Given the description of an element on the screen output the (x, y) to click on. 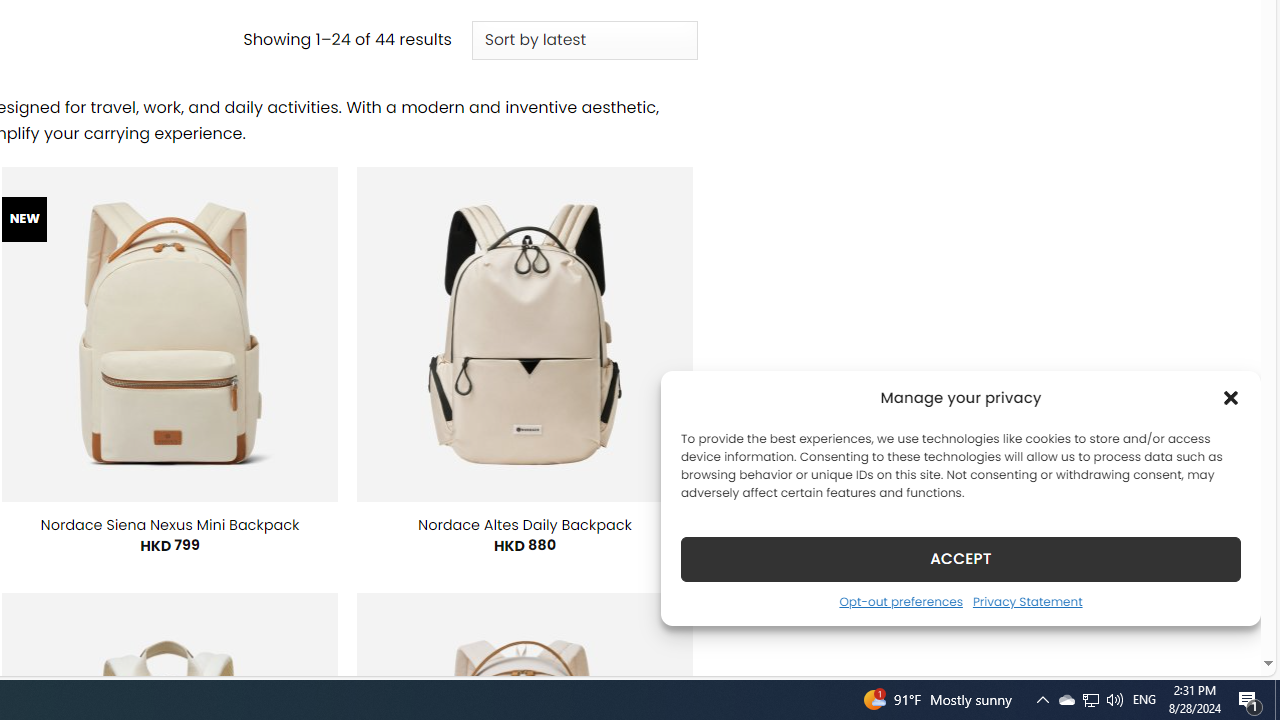
Class: cmplz-close (1231, 397)
Shop order (584, 40)
ACCEPT (960, 558)
Nordace Altes Daily Backpack (525, 524)
Opt-out preferences (900, 601)
Privacy Statement (1026, 601)
Nordace Siena Nexus Mini Backpack (169, 524)
